Given the description of an element on the screen output the (x, y) to click on. 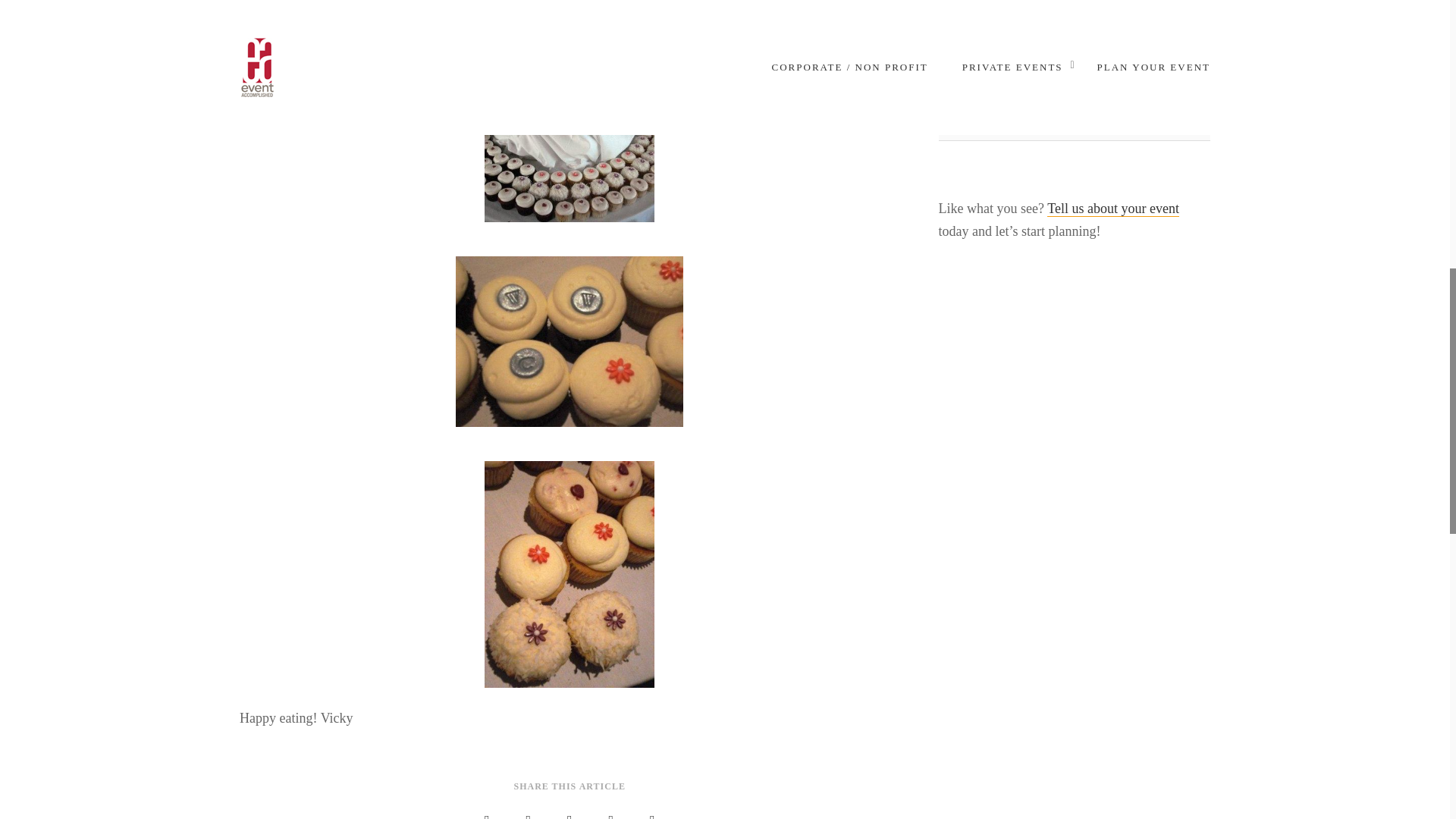
Search for: (1074, 125)
georgetowncupcake3 (568, 566)
georgetowncupcake1 (568, 111)
Tell us about your event (1112, 208)
georgetowncupcake2 (568, 333)
